Given the description of an element on the screen output the (x, y) to click on. 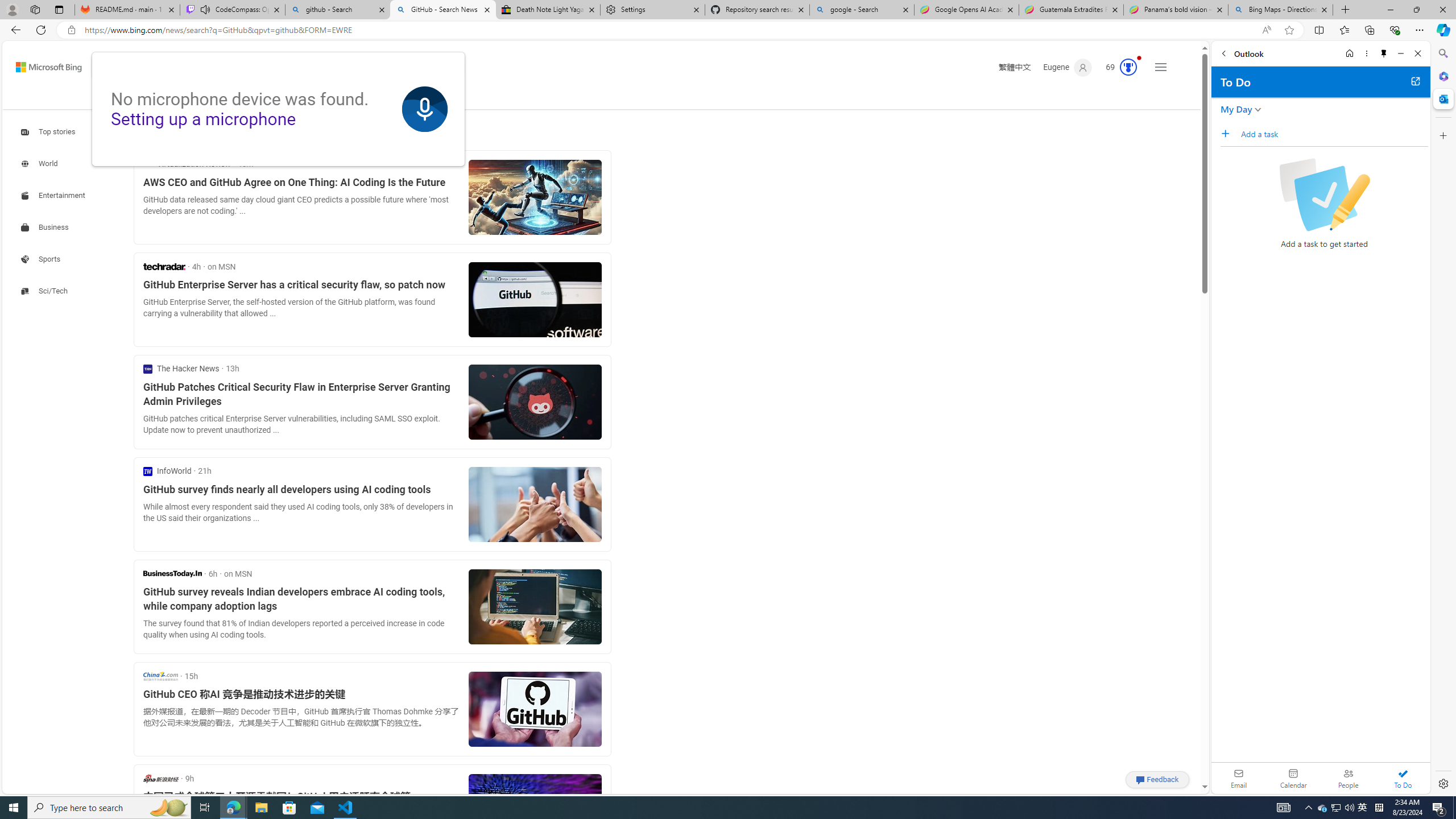
Microsoft Rewards 66 (1118, 67)
TechRadar (163, 266)
Open in new tab (1414, 80)
Home (1348, 53)
google - Search (861, 9)
Side bar (1443, 418)
Add a task (1334, 133)
Mute tab (204, 8)
Best match (225, 132)
Search news about Sports (41, 258)
To Do (1402, 777)
